Given the description of an element on the screen output the (x, y) to click on. 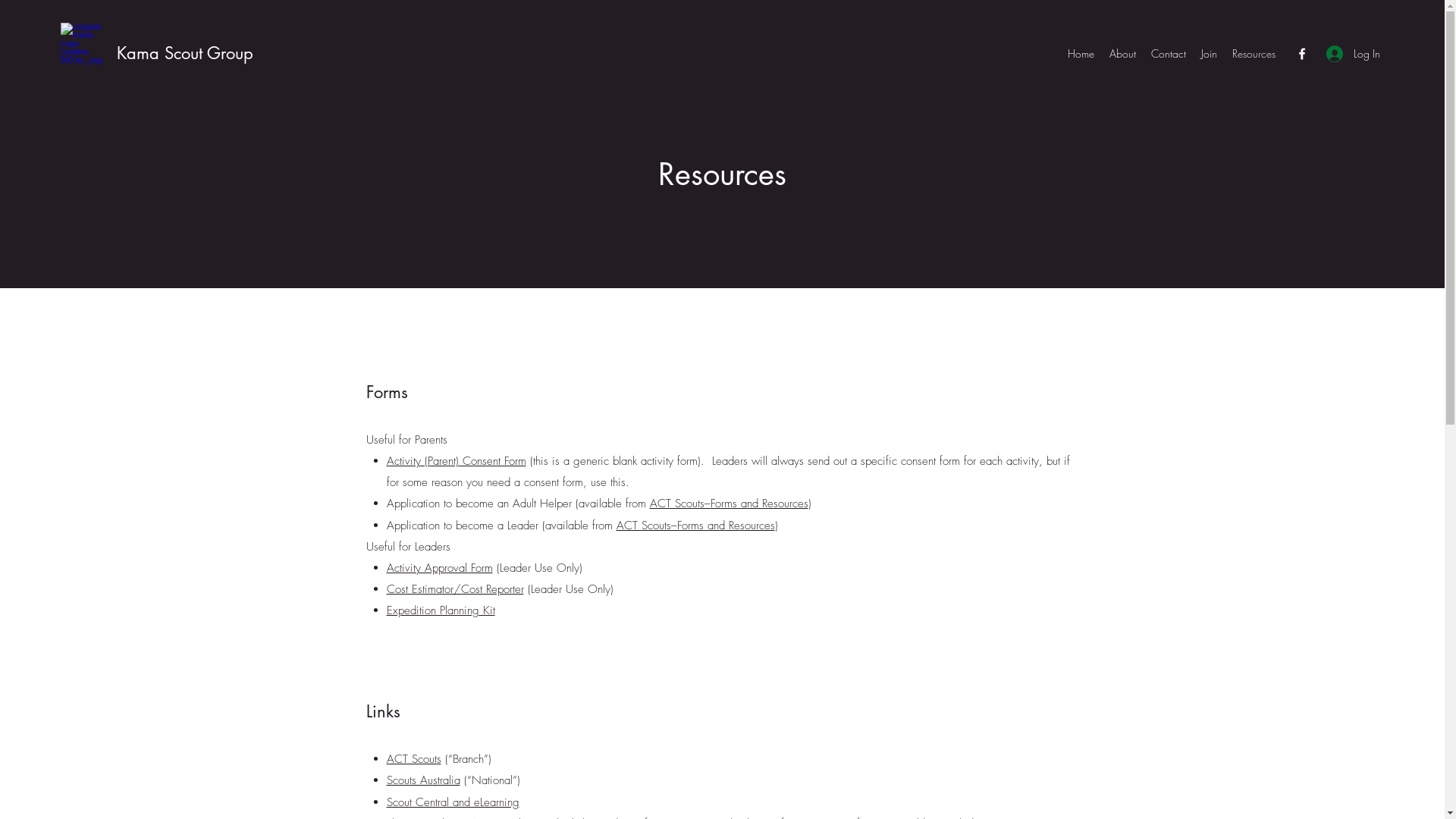
About Element type: text (1122, 53)
ACT Scouts Element type: text (413, 758)
Cost Estimator/Cost Reporter Element type: text (455, 588)
Scout Central and eLearning Element type: text (452, 801)
Home Element type: text (1080, 53)
Kama Scout Group Element type: text (184, 52)
Expedition Planning Kit Element type: text (440, 610)
Activity Approval Form Element type: text (439, 567)
Join Element type: text (1208, 53)
Scouts Australia Element type: text (423, 779)
Resources Element type: text (1253, 53)
Activity (Parent) Consent Form Element type: text (456, 460)
Contact Element type: text (1168, 53)
Log In Element type: text (1349, 53)
